Given the description of an element on the screen output the (x, y) to click on. 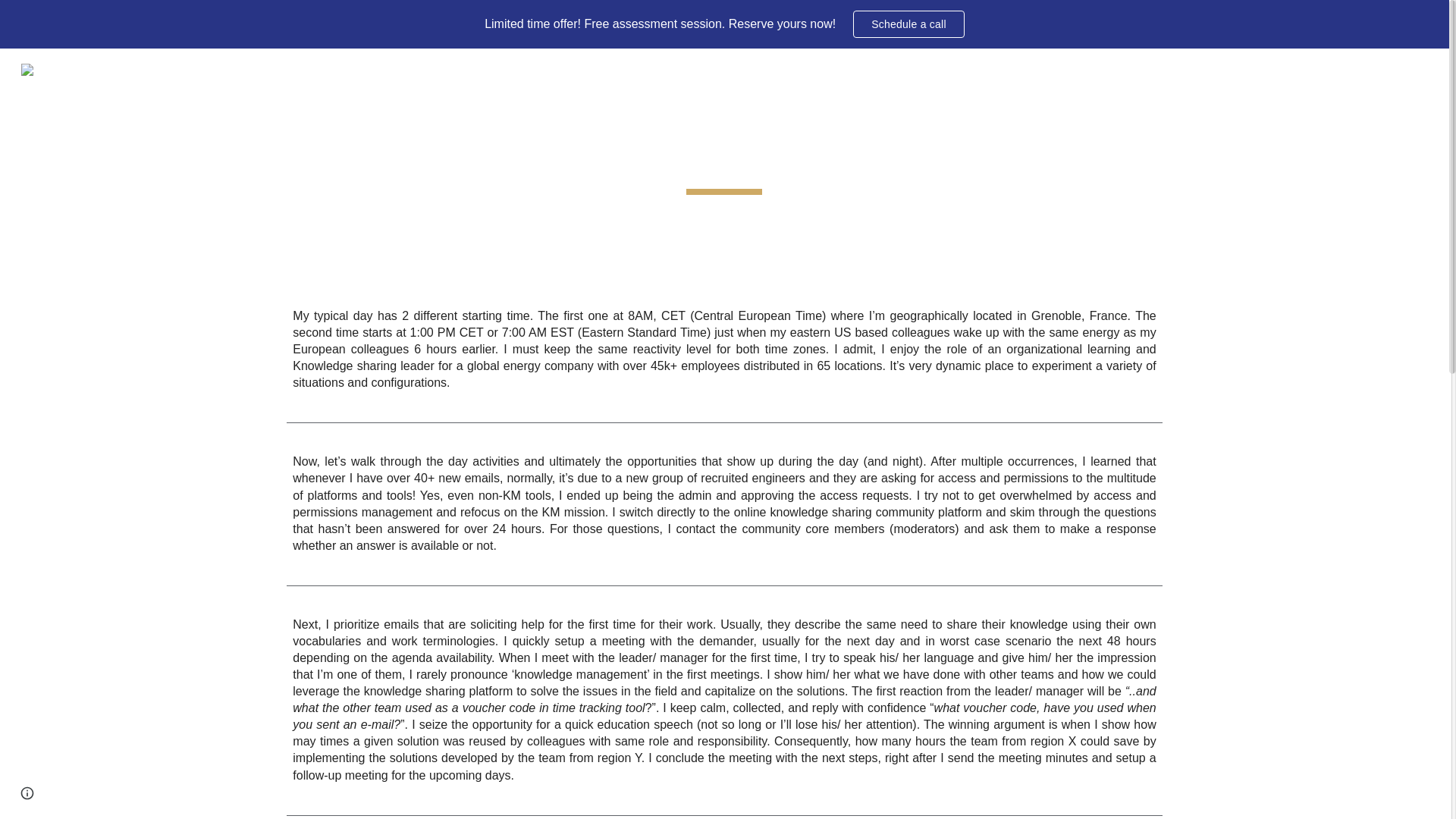
Schedule a call (908, 23)
Schedule a call (908, 23)
Our values (1294, 69)
Our Capabilities (1096, 69)
Education (1201, 69)
Contact Us (1373, 69)
3R Knowledge Services (140, 67)
Home (1017, 69)
